Given the description of an element on the screen output the (x, y) to click on. 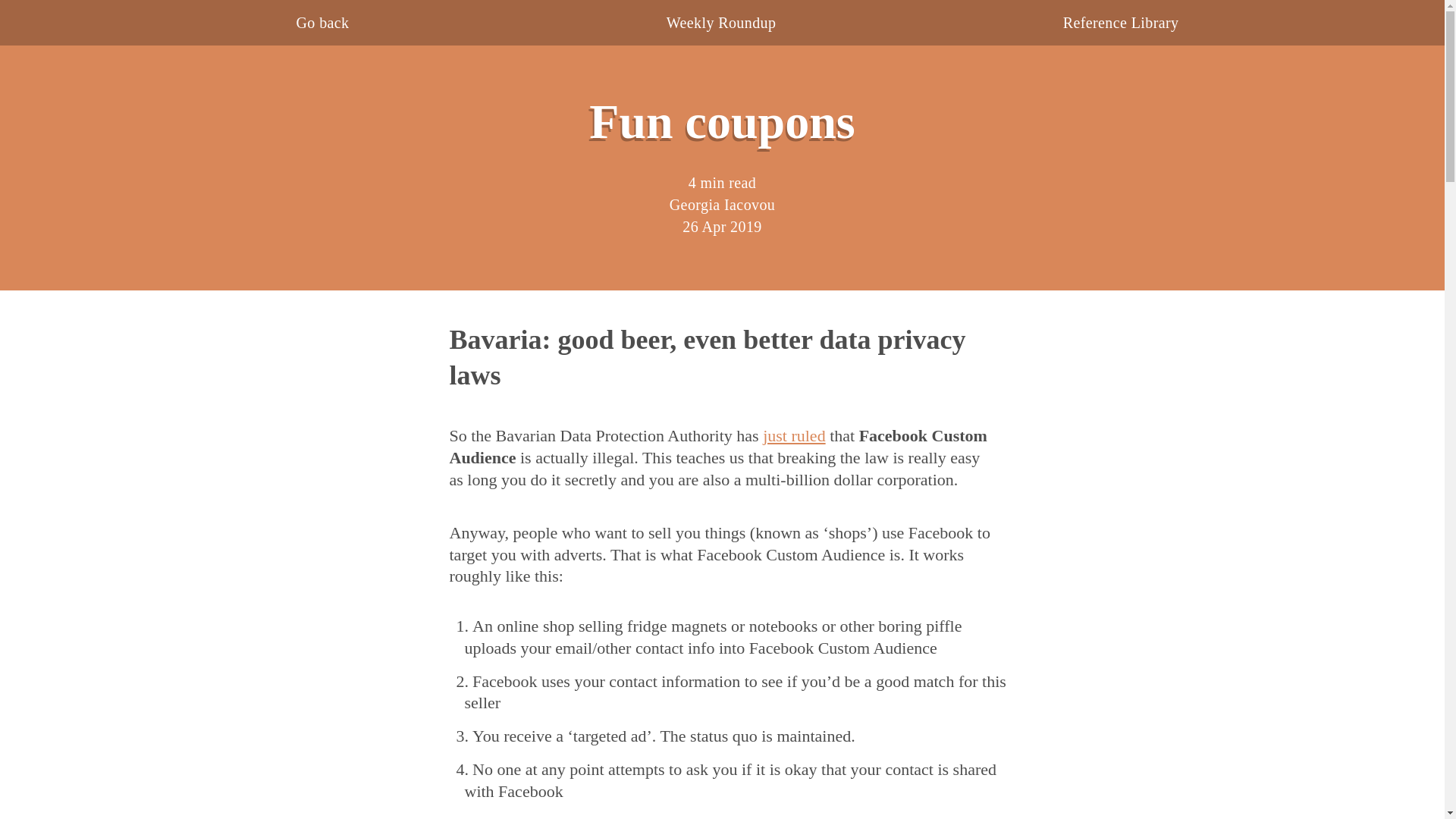
just ruled (793, 435)
Reference Library (1120, 23)
Go back (321, 23)
